Given the description of an element on the screen output the (x, y) to click on. 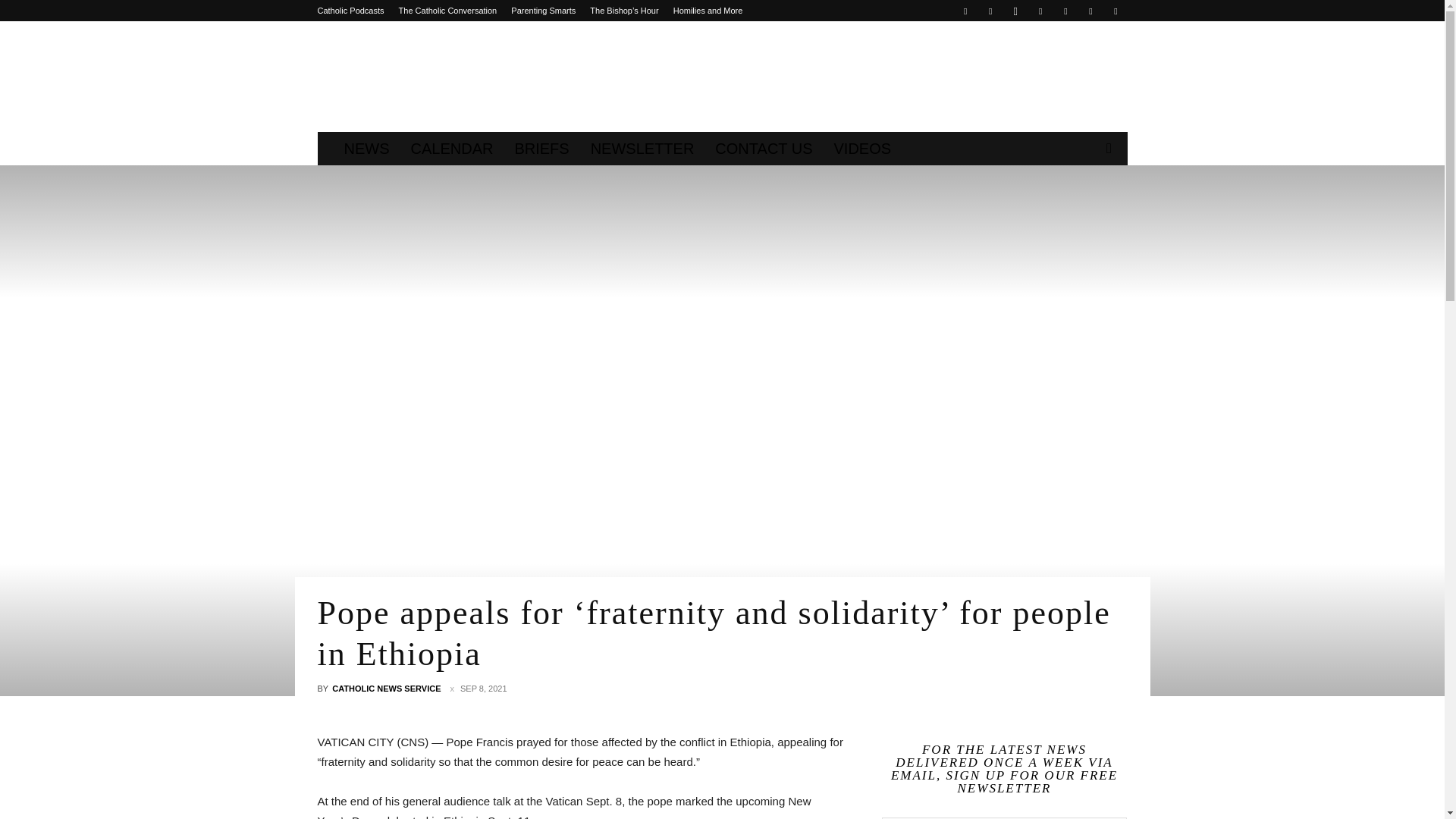
NEWS (366, 148)
Facebook (964, 10)
Twitter (1065, 10)
Flickr (989, 10)
Parenting Smarts (543, 10)
The Catholic Conversation (447, 10)
Instagram (1015, 10)
Homilies and More (707, 10)
Linkedin (1040, 10)
Catholic Podcasts (350, 10)
